Given the description of an element on the screen output the (x, y) to click on. 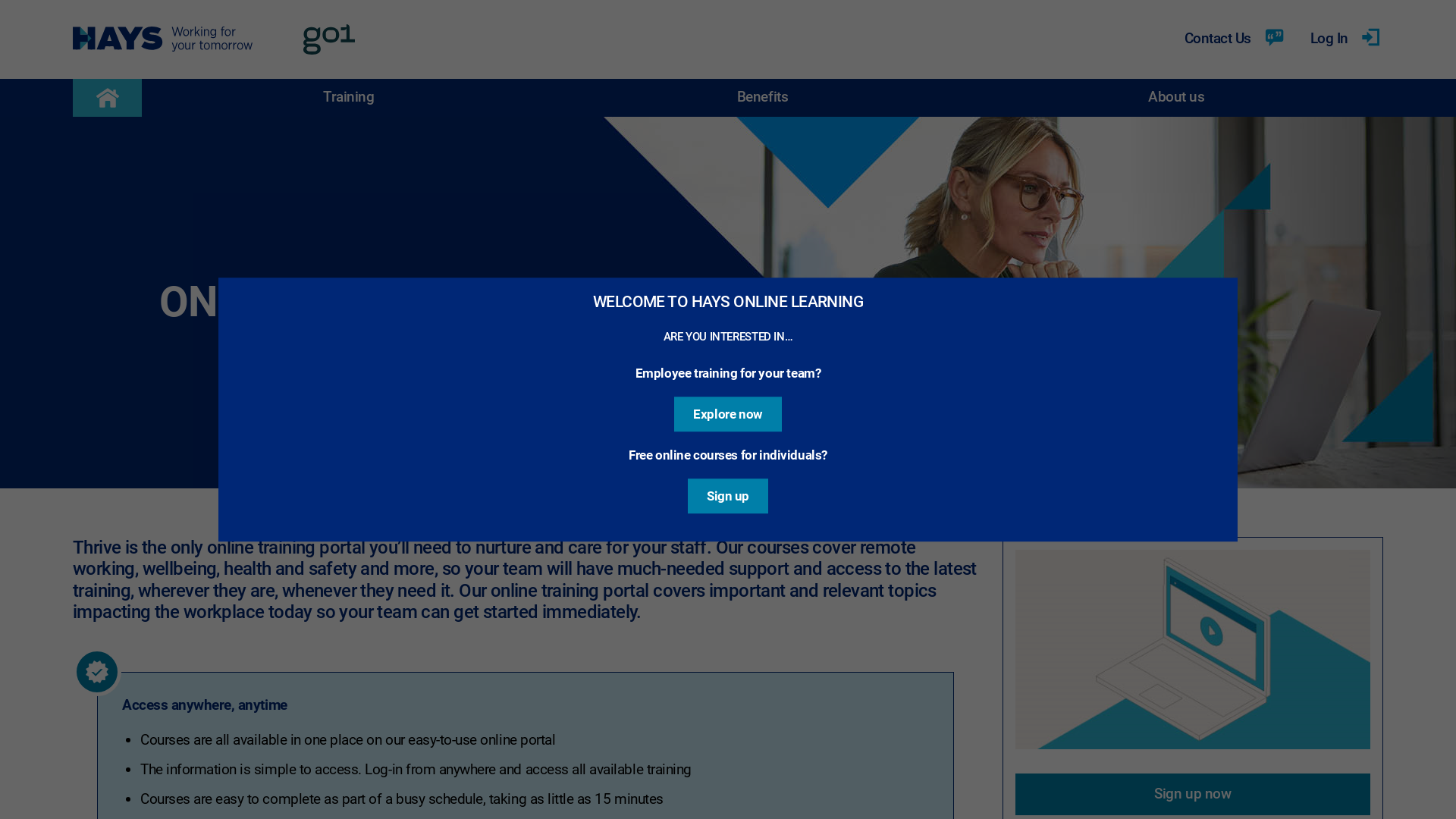
Explore now Element type: text (727, 413)
Sign up Element type: text (727, 495)
Close Element type: hover (1233, 281)
Return to the homepage Element type: hover (106, 97)
Log In Element type: text (1346, 39)
About us Element type: text (1176, 97)
Return to homepage Element type: hover (210, 39)
Contact Us Element type: text (1235, 39)
Benefits Element type: text (762, 97)
Sign up now Element type: text (1192, 794)
Training Element type: text (348, 97)
